Given the description of an element on the screen output the (x, y) to click on. 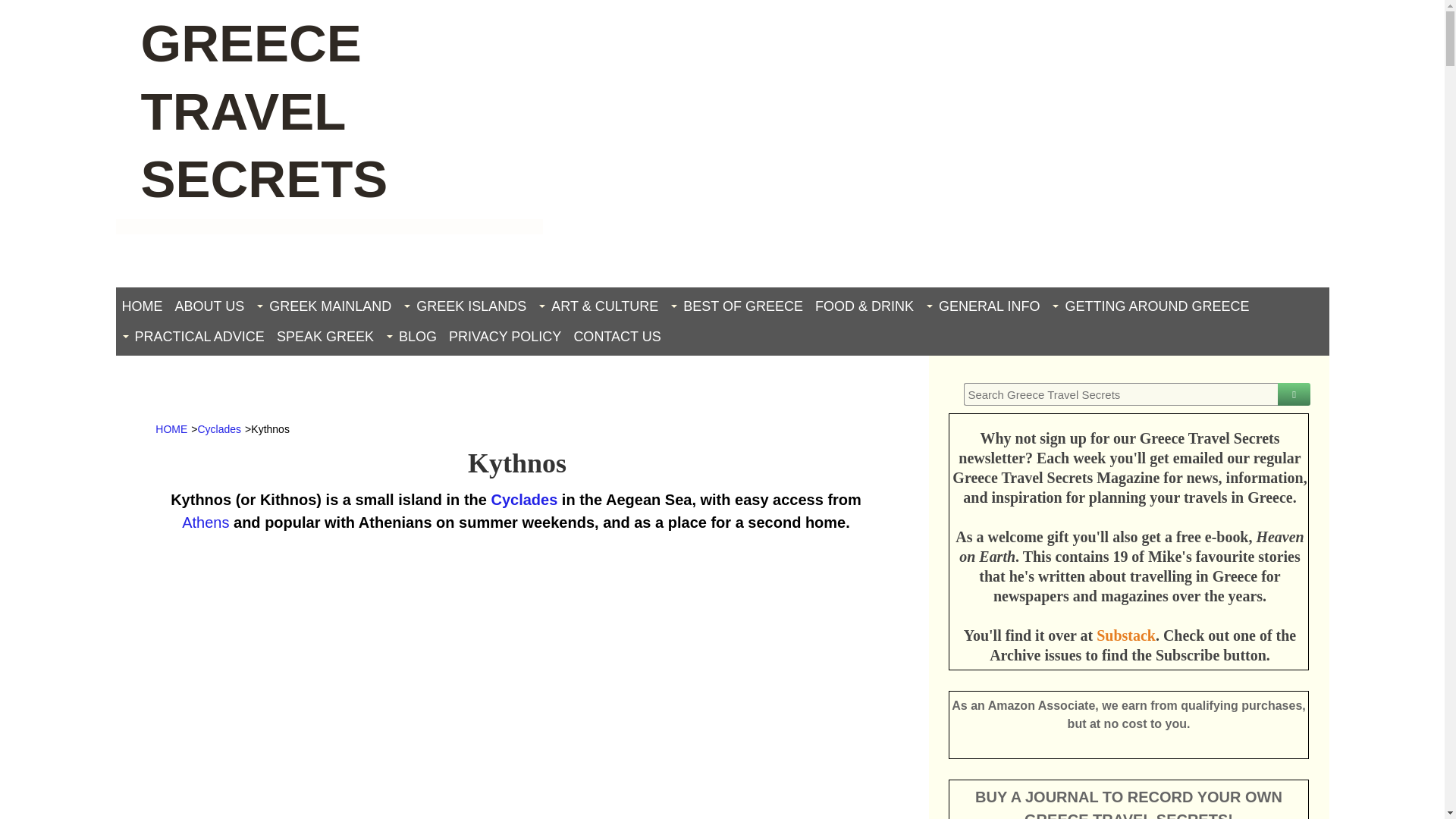
ABOUT US (209, 306)
GREECE TRAVEL SECRETS (264, 111)
HOME (141, 306)
